Given the description of an element on the screen output the (x, y) to click on. 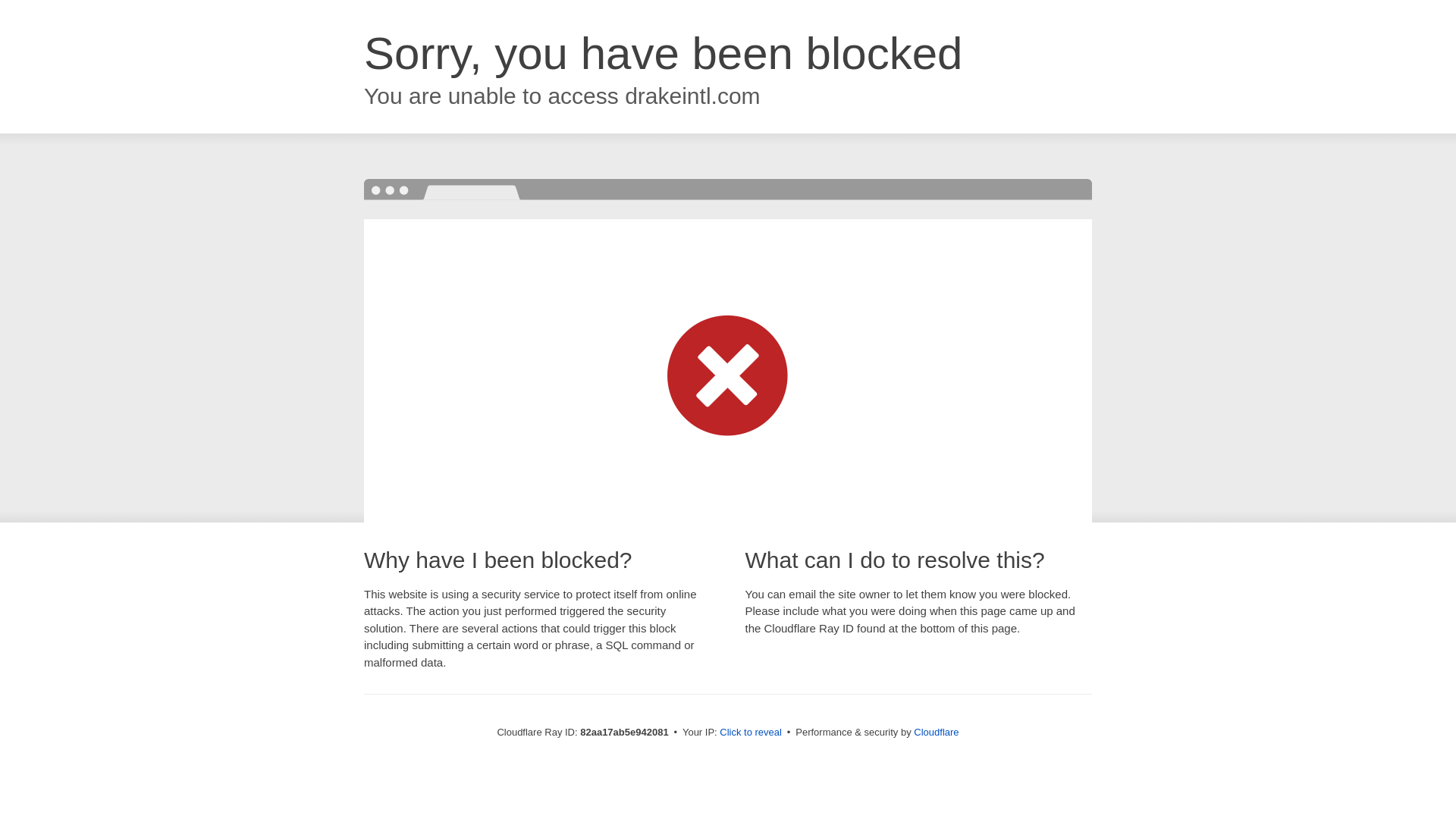
Cloudflare Element type: text (935, 731)
Click to reveal Element type: text (750, 732)
